Given the description of an element on the screen output the (x, y) to click on. 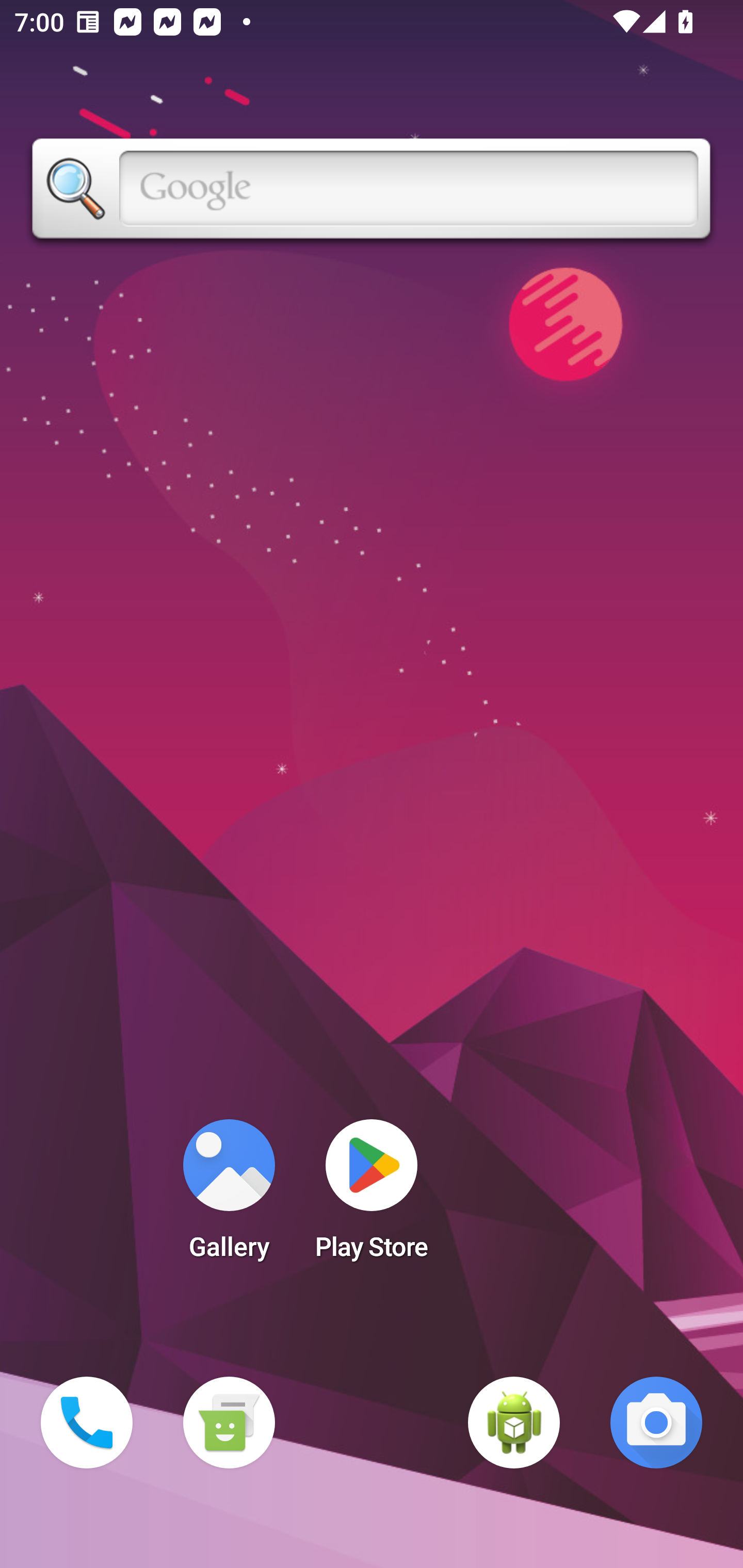
Gallery (228, 1195)
Play Store (371, 1195)
Phone (86, 1422)
Messaging (228, 1422)
WebView Browser Tester (513, 1422)
Camera (656, 1422)
